Given the description of an element on the screen output the (x, y) to click on. 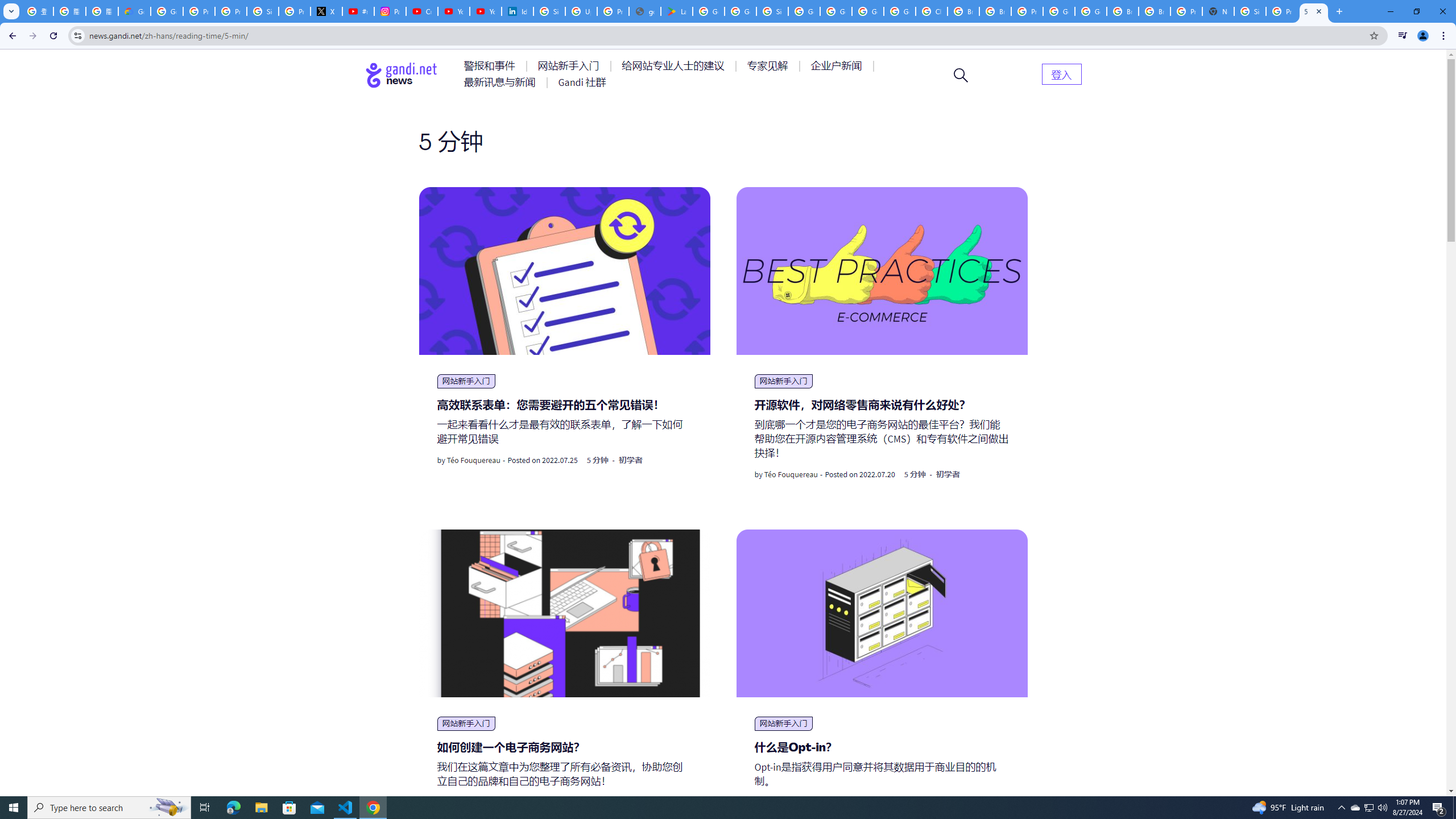
Address and search bar (725, 35)
New Tab (1217, 11)
